Given the description of an element on the screen output the (x, y) to click on. 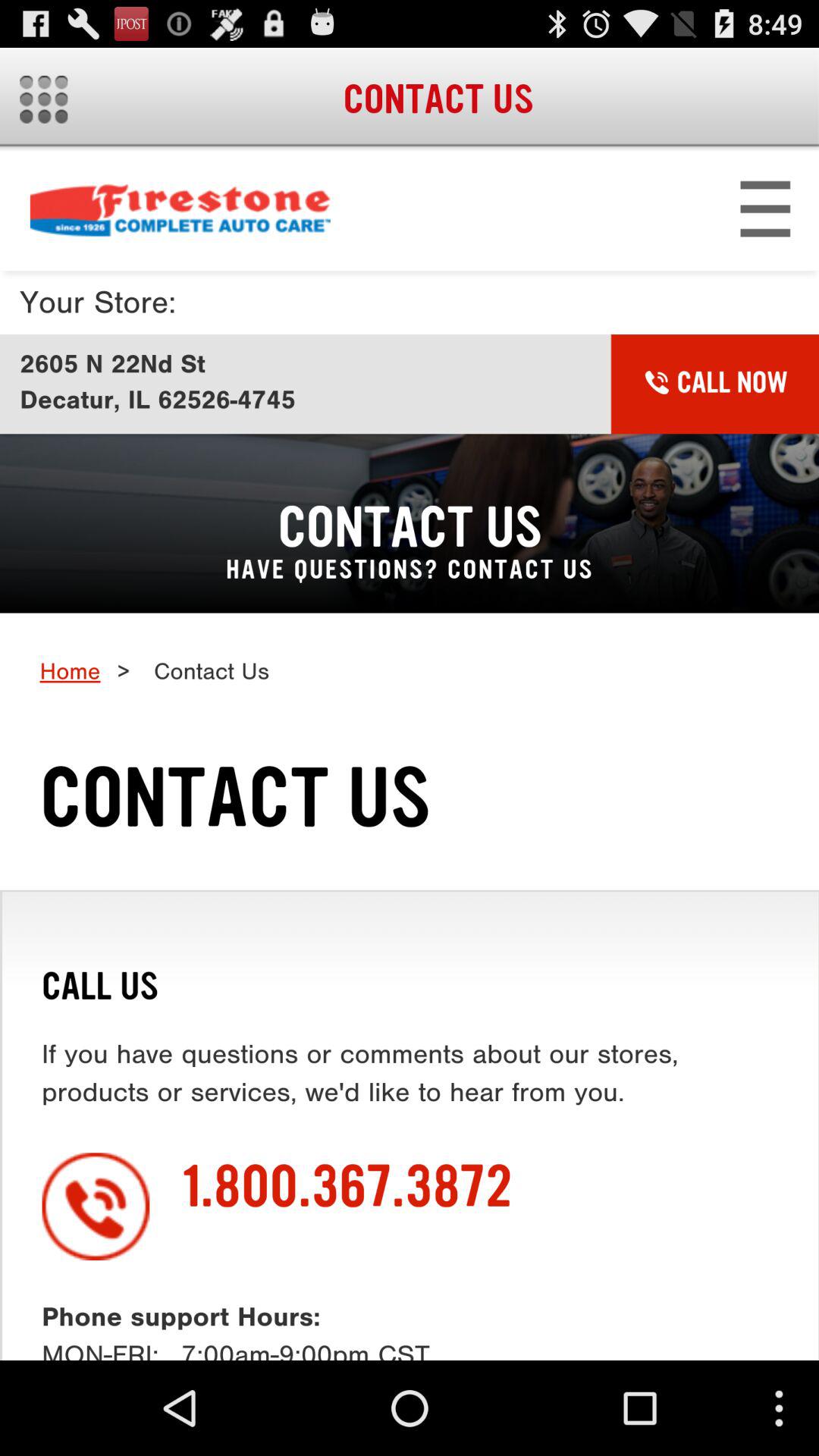
contact us page (409, 755)
